Given the description of an element on the screen output the (x, y) to click on. 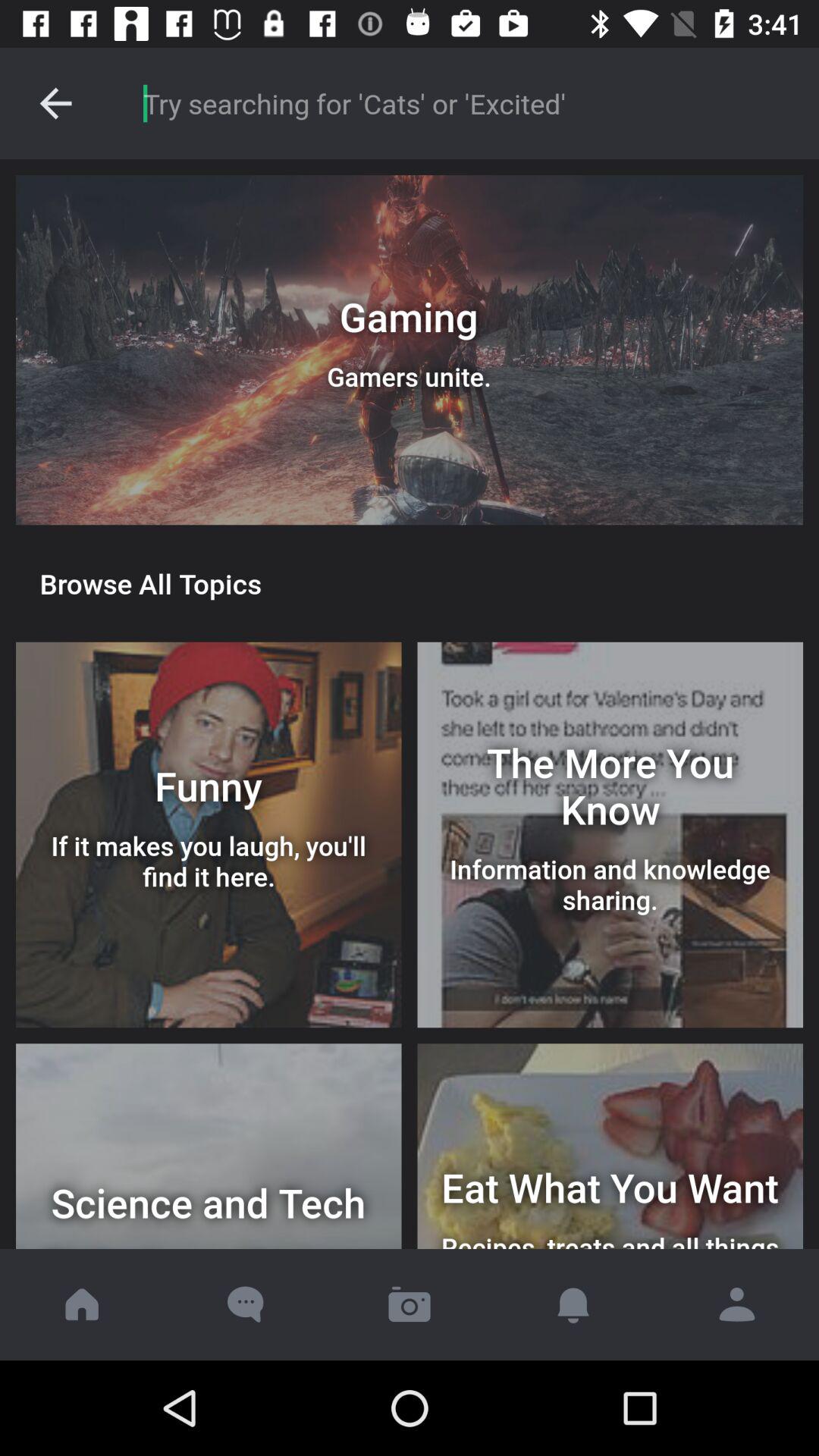
go to profile (737, 1304)
